Given the description of an element on the screen output the (x, y) to click on. 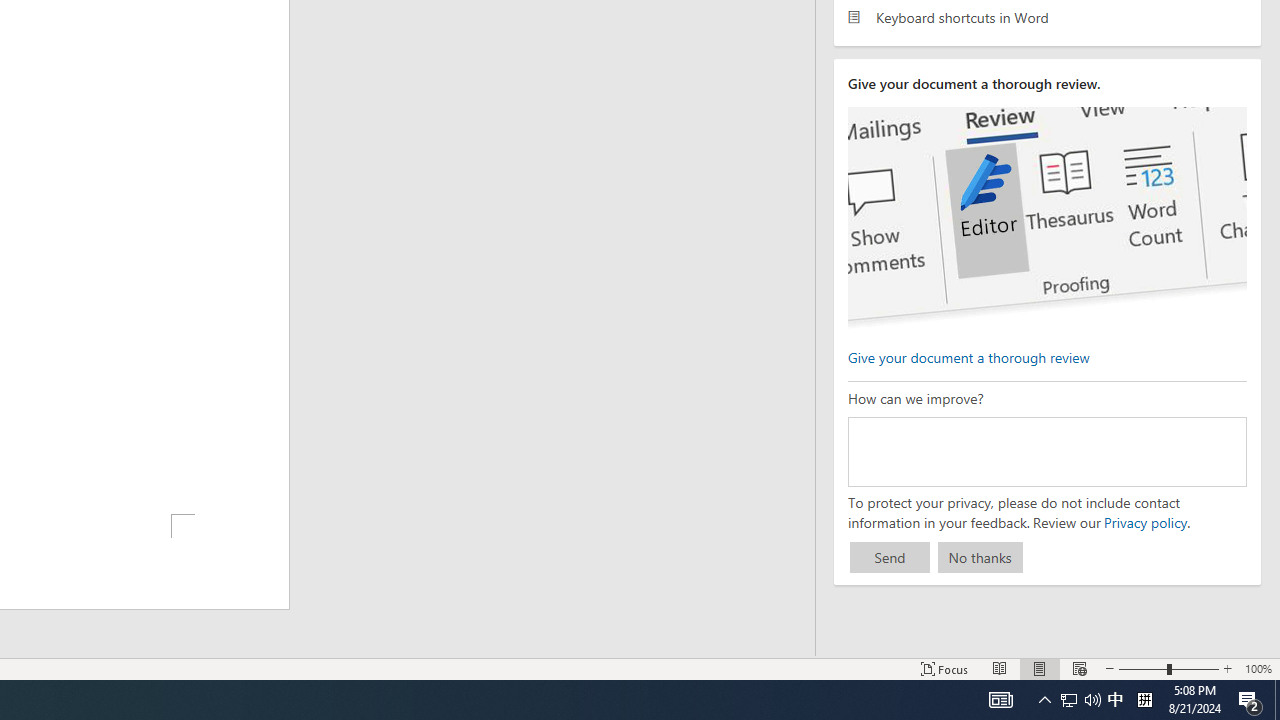
Privacy policy (1144, 522)
Zoom 100% (1258, 668)
How can we improve? (1046, 451)
editor ui screenshot (1046, 218)
Give your document a thorough review (968, 356)
No thanks (980, 557)
Send (889, 557)
Keyboard shortcuts in Word (1047, 16)
